Given the description of an element on the screen output the (x, y) to click on. 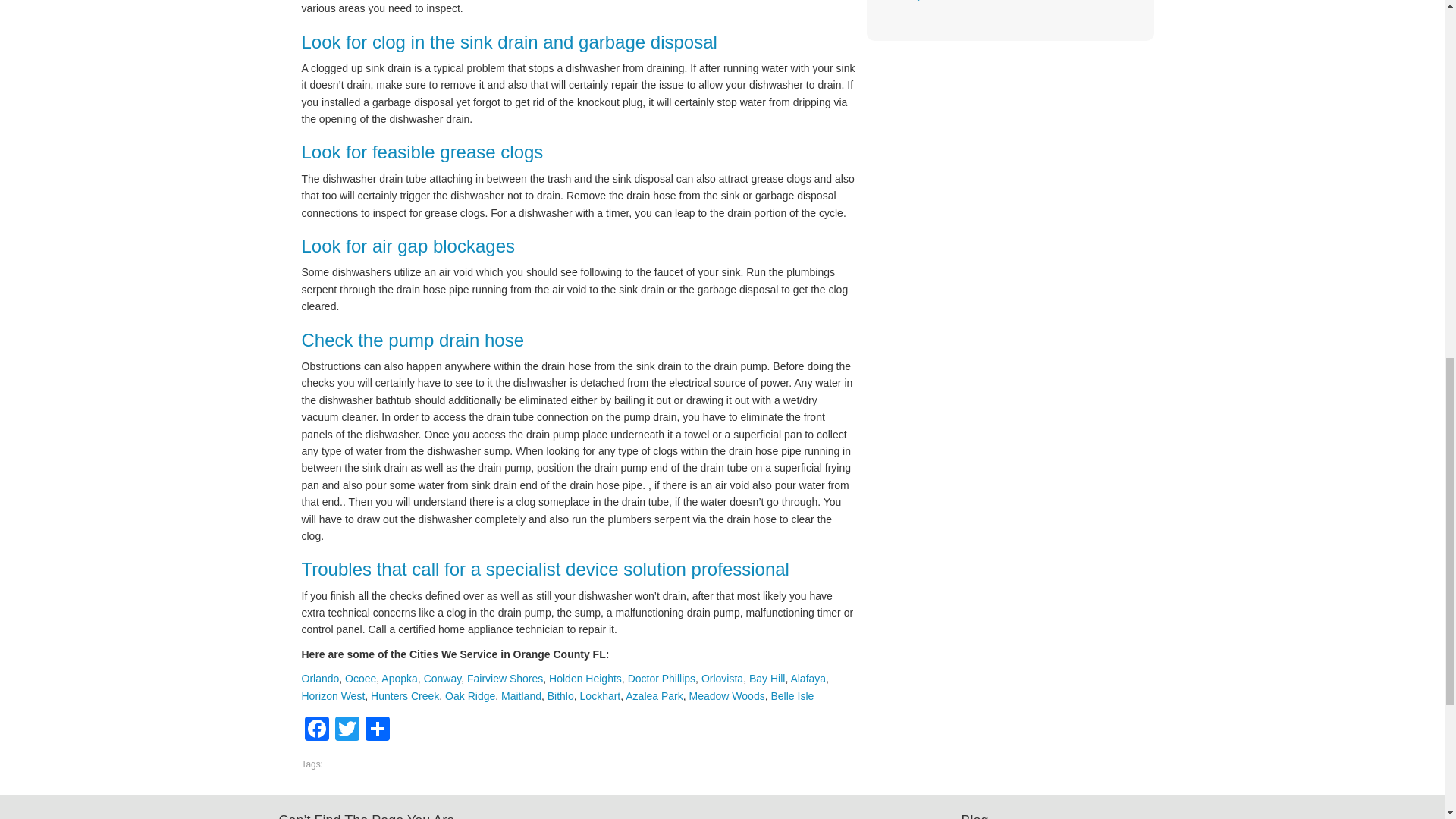
Horizon West (333, 695)
Maitland (520, 695)
Orlovista (721, 678)
Bithlo (560, 695)
Look for feasible grease clogs (422, 151)
Azalea Park (654, 695)
Conway (442, 678)
Orlando (320, 678)
Look for air gap blockages (408, 245)
